Given the description of an element on the screen output the (x, y) to click on. 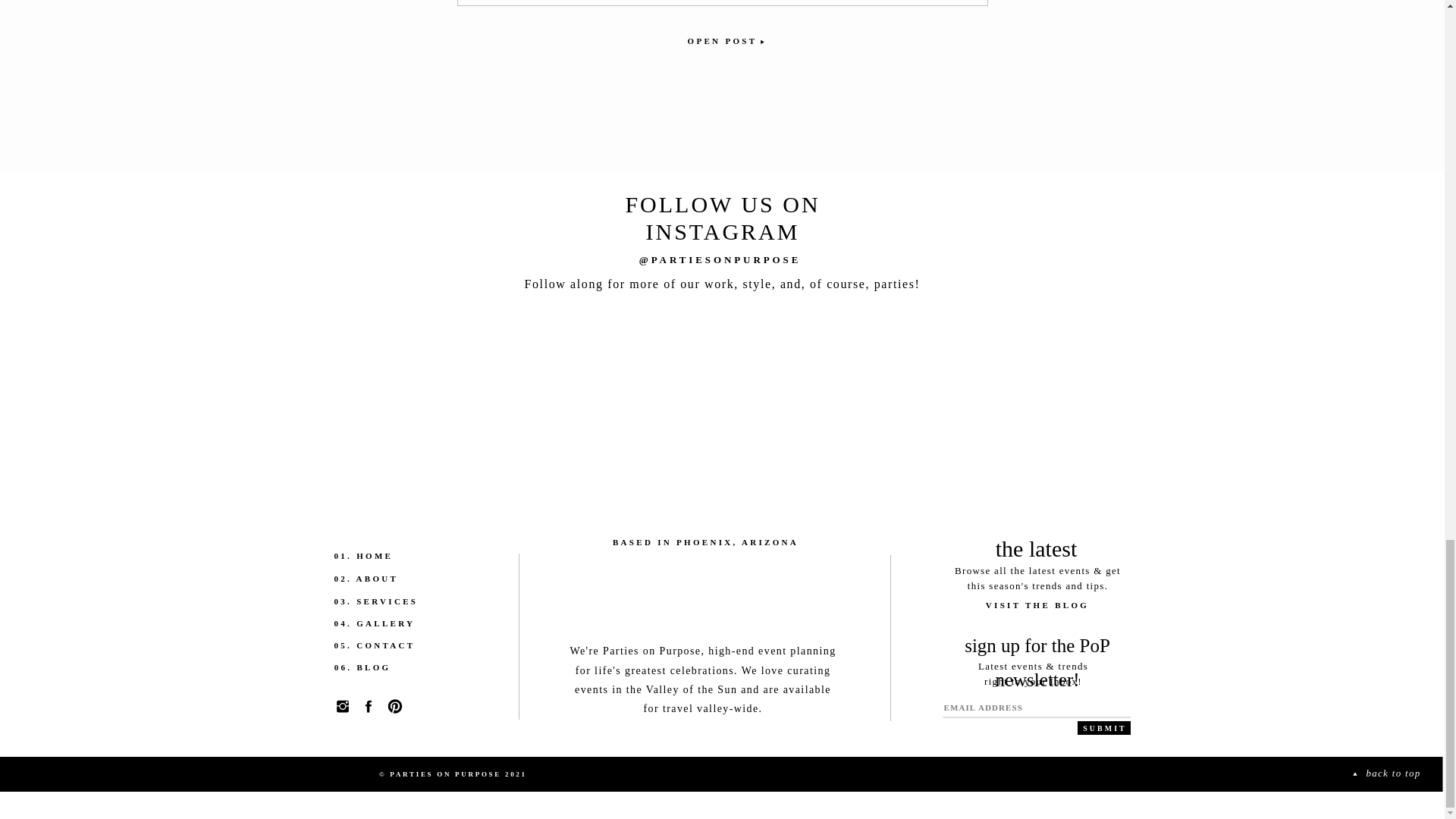
the latest (1035, 550)
4th of July Community Event (722, 39)
VISIT THE BLOG (1037, 608)
OPEN POST (722, 39)
